Given the description of an element on the screen output the (x, y) to click on. 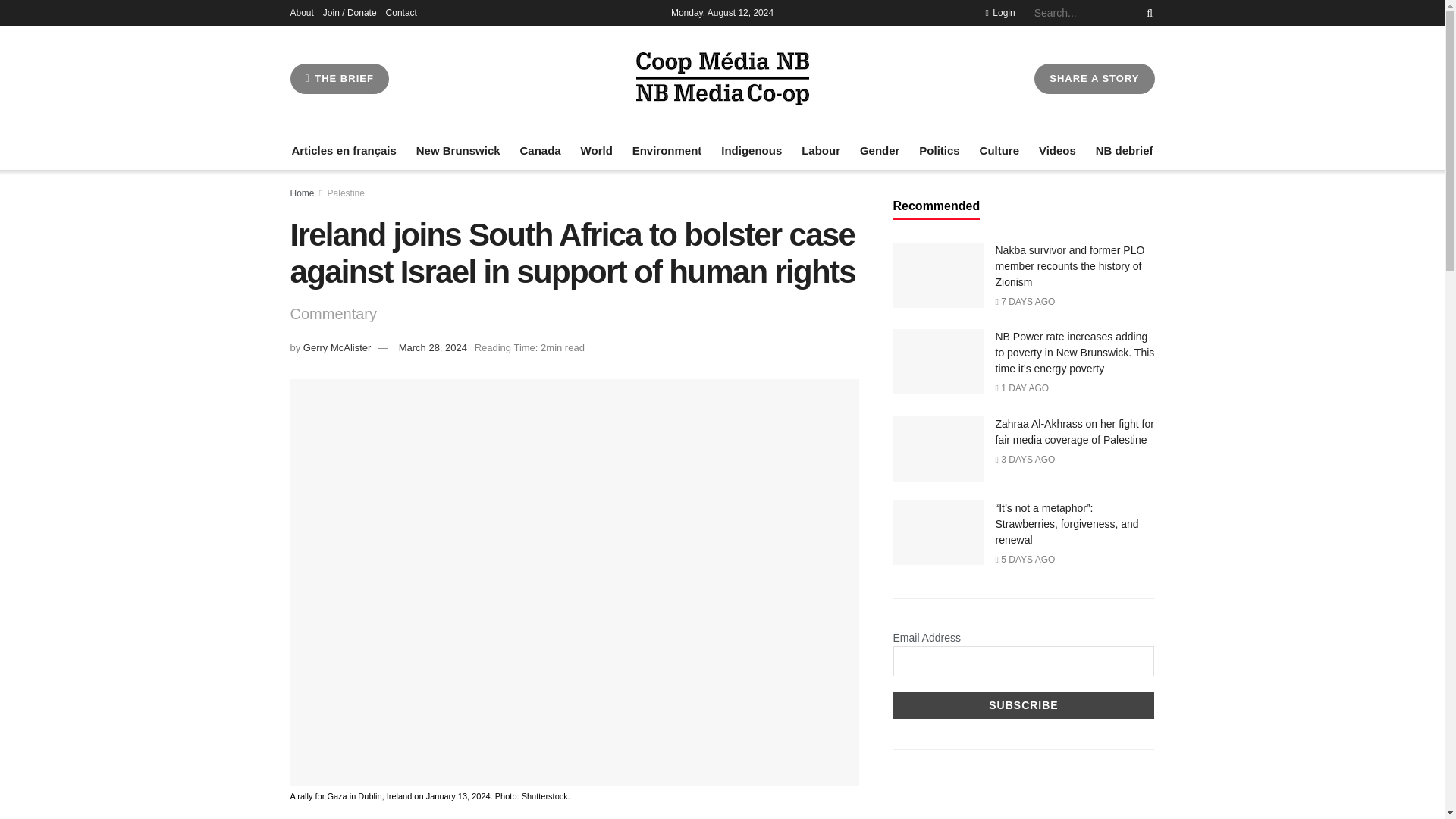
Labour (820, 150)
Home (301, 193)
Contact (400, 12)
Canada (540, 150)
About (301, 12)
World (596, 150)
Indigenous (751, 150)
Subscribe (1023, 705)
Culture (999, 150)
SHARE A STORY (1093, 78)
